Given the description of an element on the screen output the (x, y) to click on. 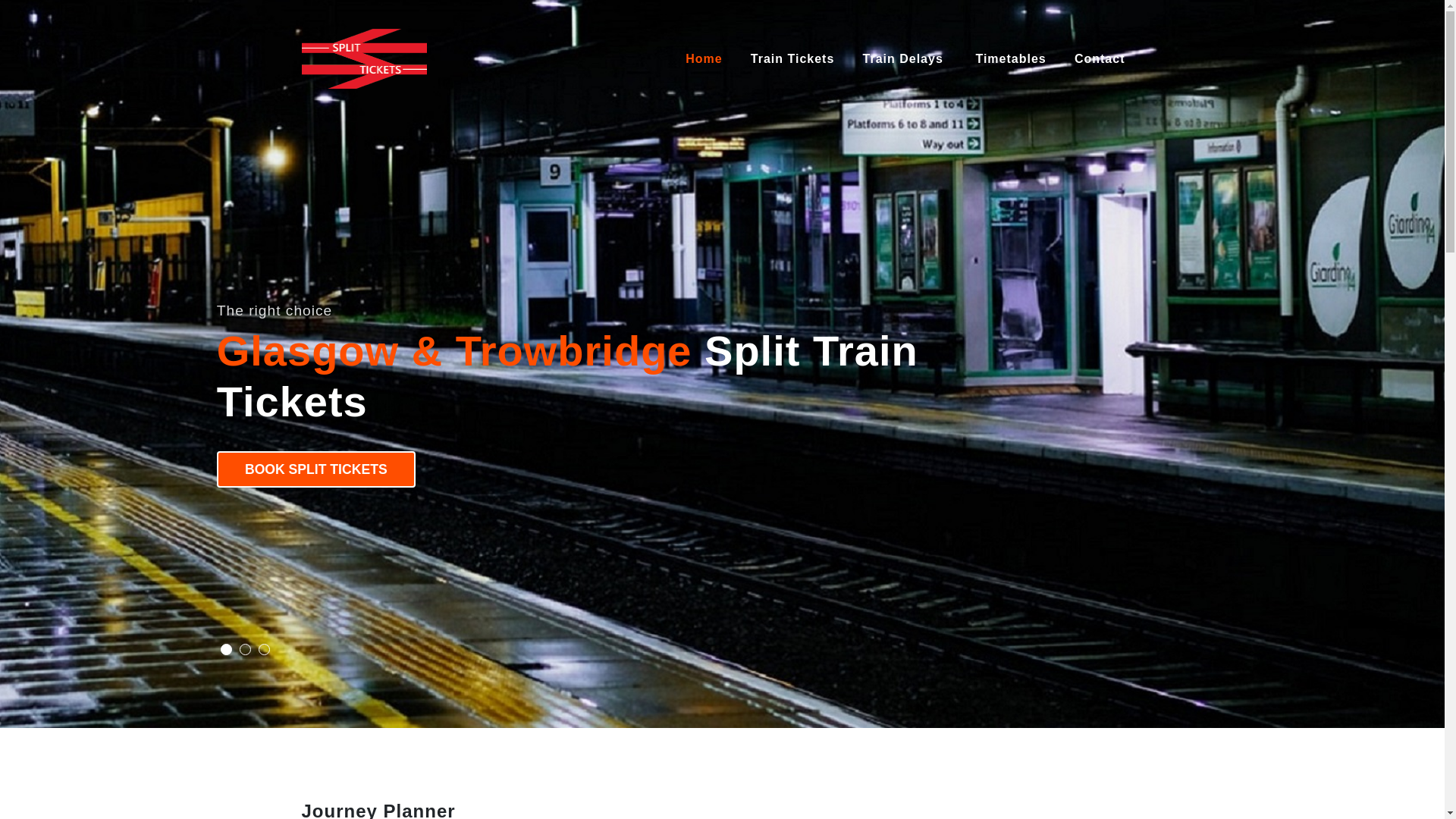
Train Tickets (791, 58)
Train Delays (904, 58)
BOOK SPLIT TICKETS (315, 469)
Timetables (1010, 58)
Contact (1101, 58)
